Given the description of an element on the screen output the (x, y) to click on. 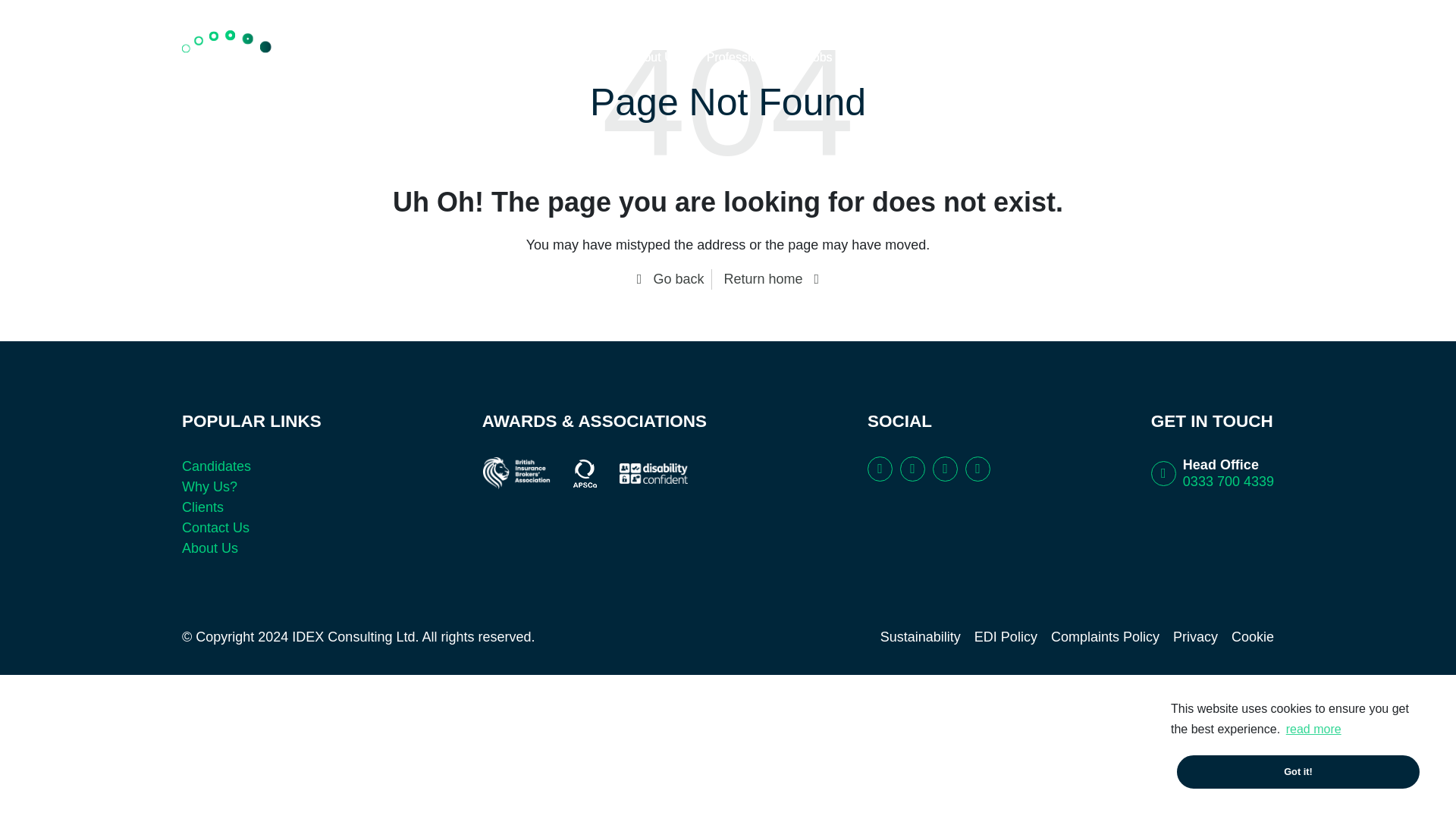
Idex (233, 56)
